Given the description of an element on the screen output the (x, y) to click on. 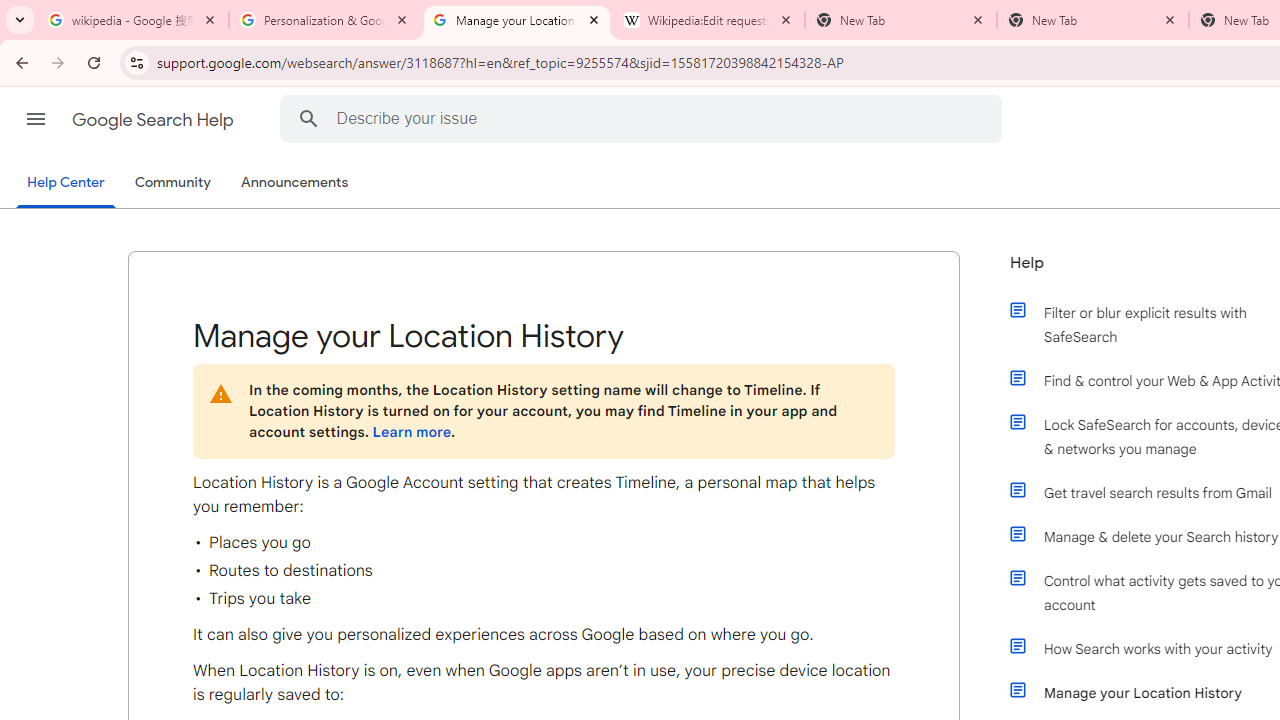
Wikipedia:Edit requests - Wikipedia (709, 20)
Learn more (411, 431)
Search Help Center (308, 118)
Announcements (294, 183)
Community (171, 183)
